Given the description of an element on the screen output the (x, y) to click on. 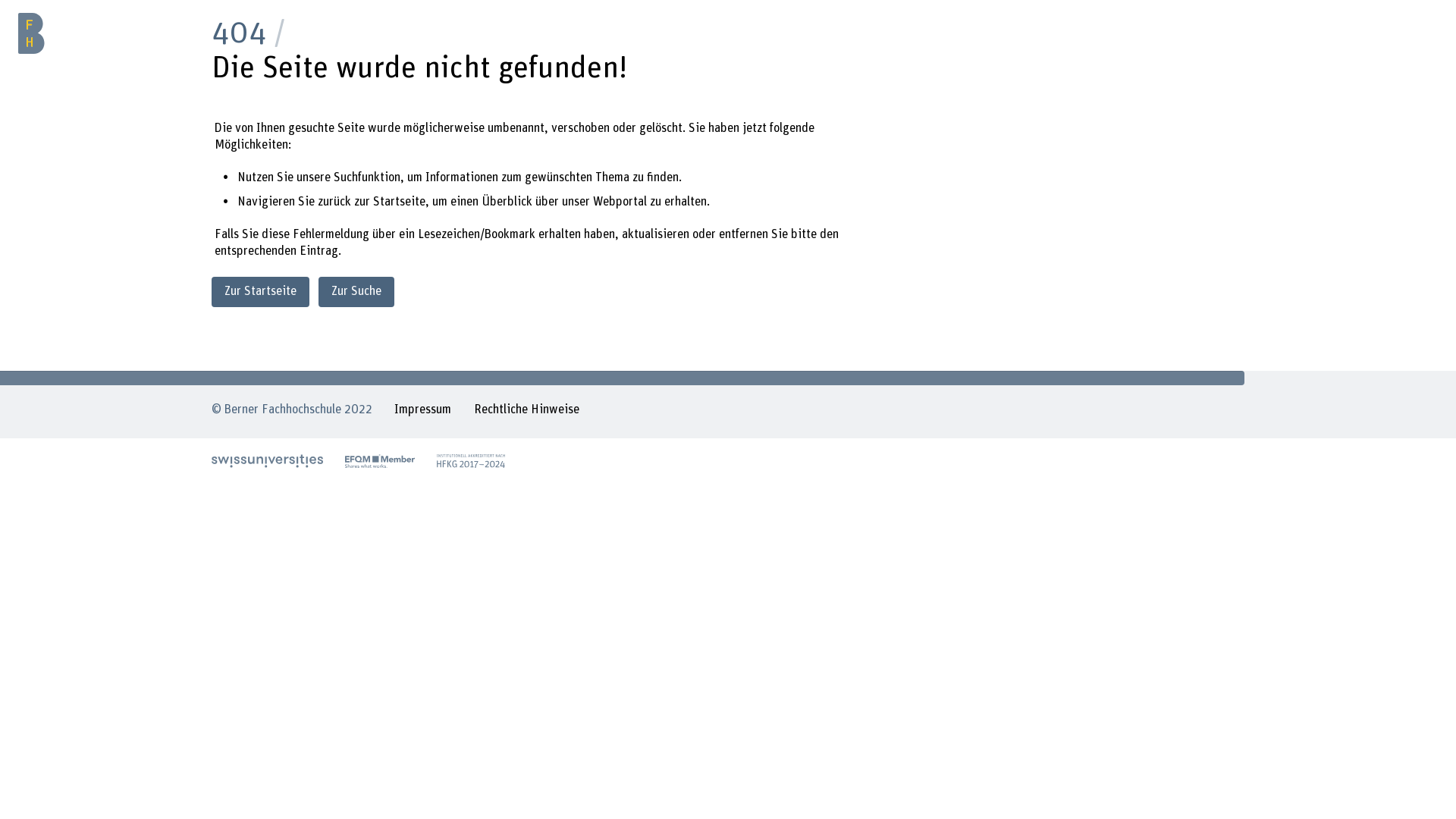
Zur Startseite Element type: text (260, 291)
EFQM Member Element type: hover (379, 460)
Akkreditierung Element type: hover (470, 460)
swissuniversities Element type: hover (267, 460)
Startseite Element type: text (399, 201)
Zur Suche Element type: text (356, 291)
Suchfunktion Element type: text (366, 177)
Impressum Element type: text (422, 411)
Rechtliche Hinweise Element type: text (525, 411)
